Given the description of an element on the screen output the (x, y) to click on. 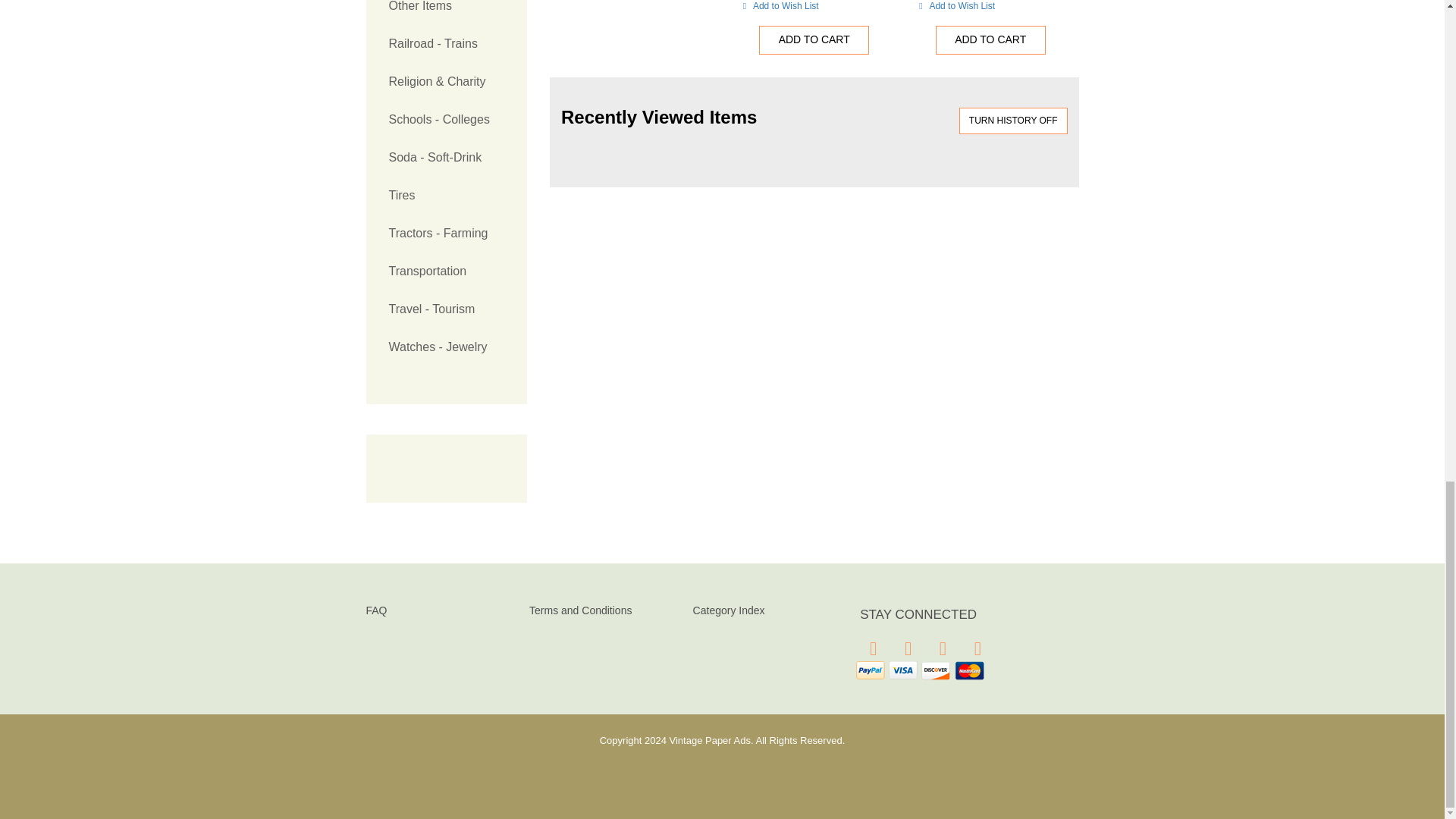
Other Items (445, 12)
